Given the description of an element on the screen output the (x, y) to click on. 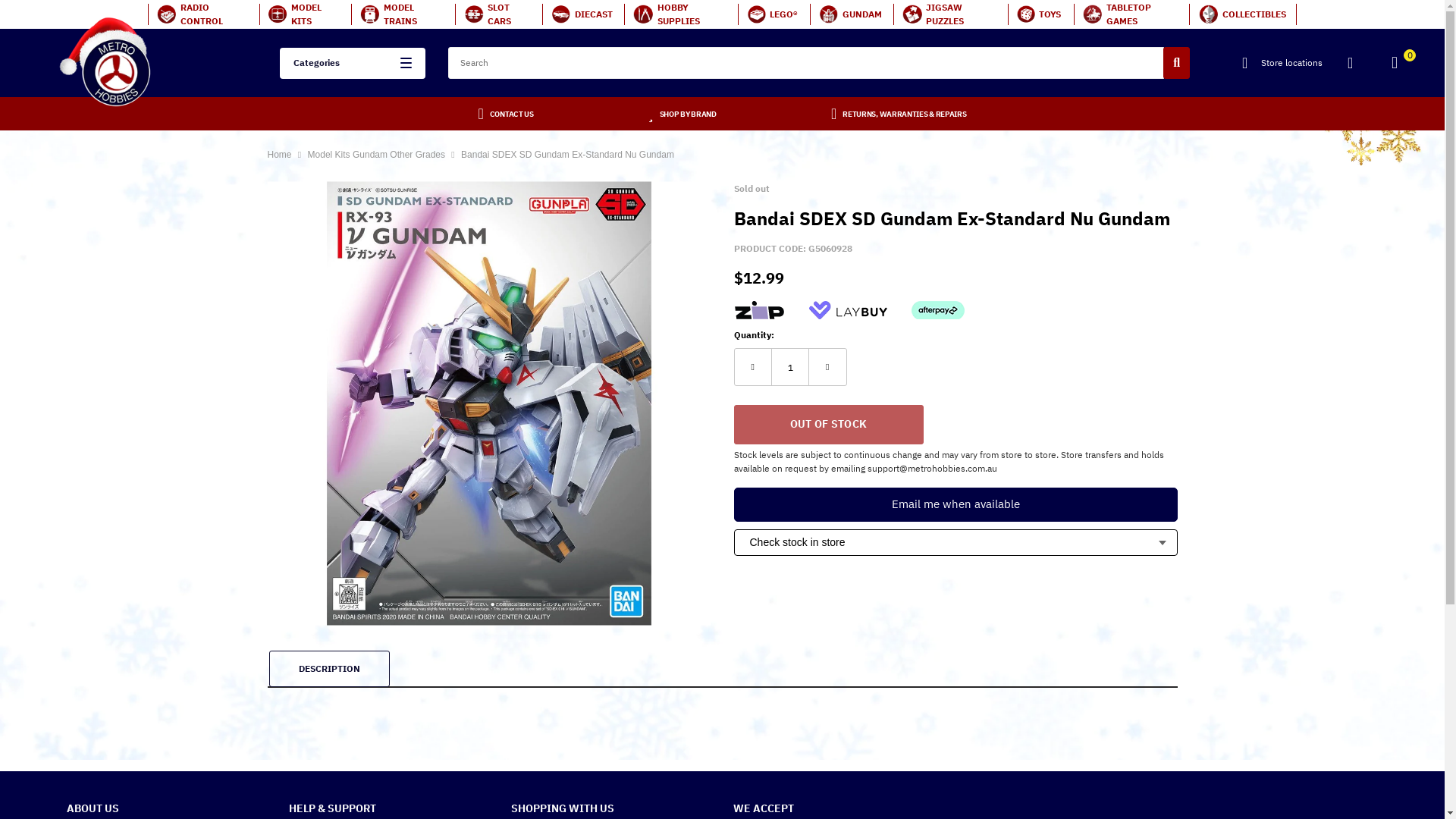
Home Element type: text (278, 154)
MODEL TRAINS Element type: text (403, 14)
Check stock in store Element type: text (955, 542)
Store locations Element type: text (1280, 62)
GUNDAM Element type: text (851, 14)
Out Of Stock Element type: text (828, 424)
Model Kits Gundam Other Grades Element type: text (377, 154)
TABLETOP GAMES Element type: text (1131, 14)
JIGSAW PUZZLES Element type: text (950, 14)
SLOT CARS Element type: text (498, 14)
DESCRIPTION Element type: text (328, 668)
TOYS Element type: text (1040, 14)
HOBBY SUPPLIES Element type: text (680, 14)
RADIO CONTROL Element type: text (203, 14)
CONTACT US Element type: text (511, 113)
RETURNS, WARRANTIES & REPAIRS Element type: text (904, 113)
DIECAST Element type: text (583, 14)
MODEL KITS Element type: text (305, 14)
Email me when available Element type: text (955, 504)
0 Element type: text (1400, 64)
SHOP BY BRAND Element type: text (687, 113)
COLLECTIBLES Element type: text (1242, 14)
